Given the description of an element on the screen output the (x, y) to click on. 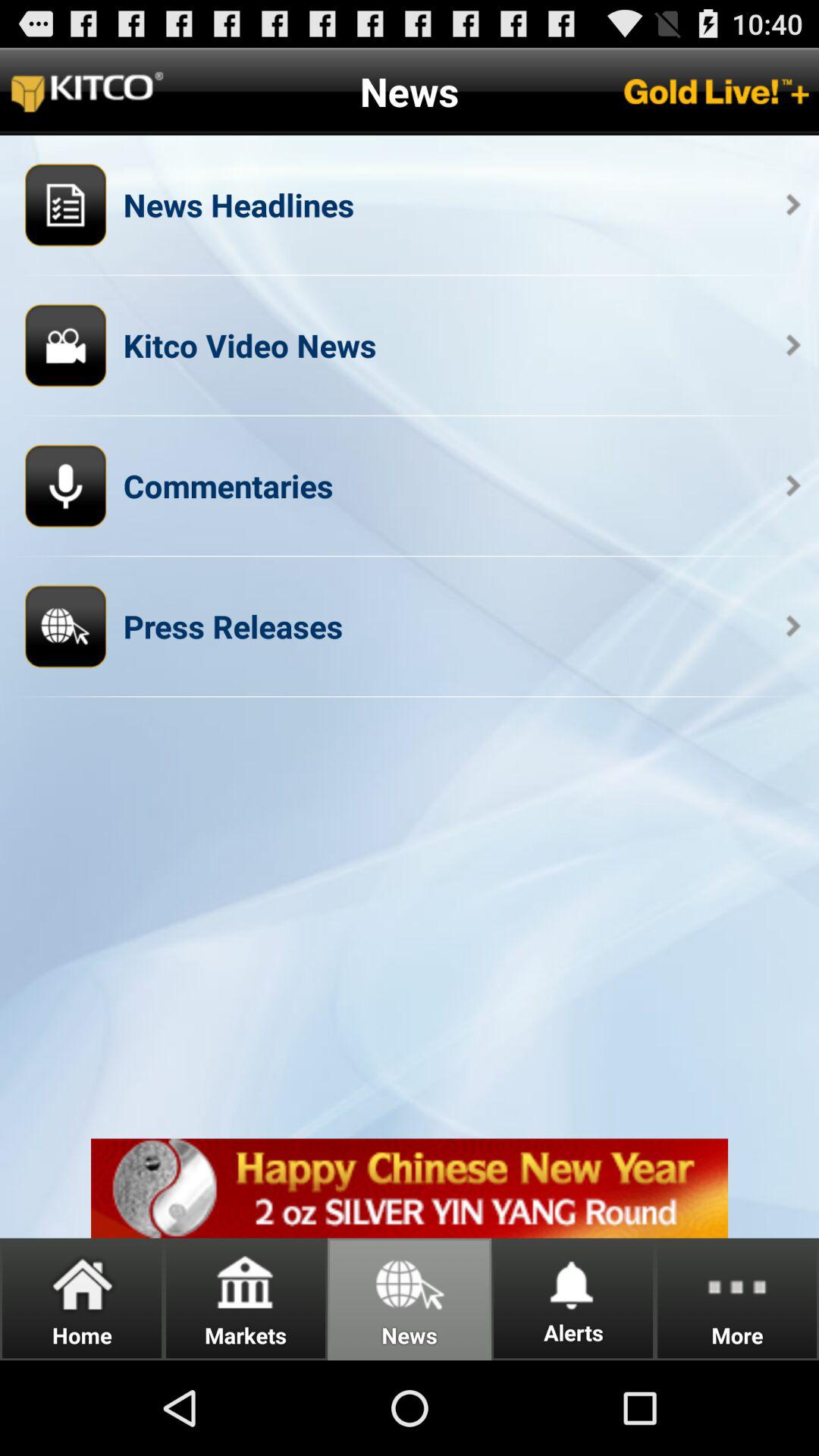
adventisment page (409, 1188)
